Given the description of an element on the screen output the (x, y) to click on. 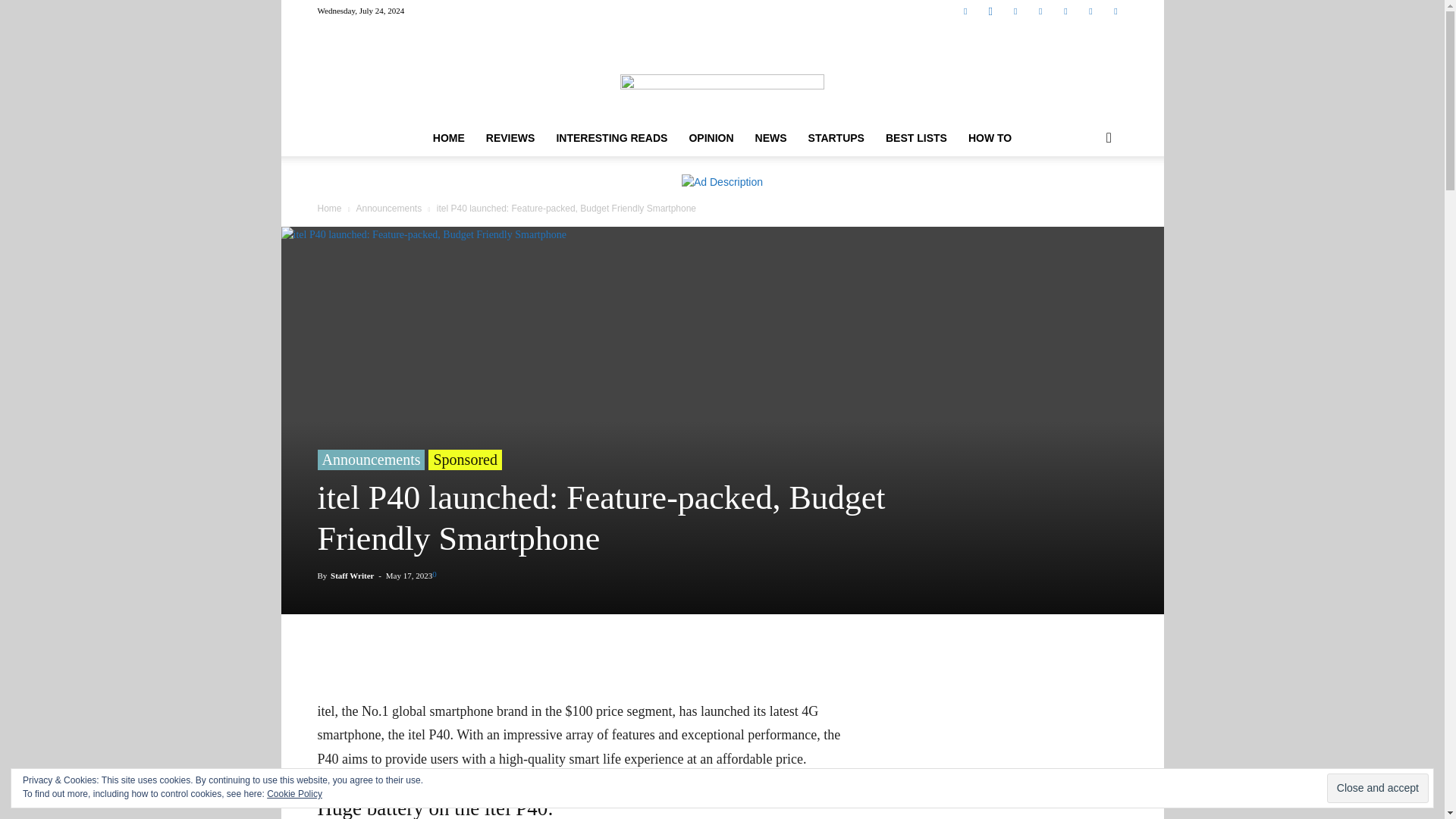
Close and accept (1377, 788)
INTERESTING READS (611, 137)
Linkedin (1015, 10)
Telegram (1040, 10)
OPINION (711, 137)
REVIEWS (511, 137)
STARTUPS (836, 137)
TikTok (1065, 10)
BEST LISTS (916, 137)
NEWS (770, 137)
HOW TO (990, 137)
Facebook (964, 10)
HOME (449, 137)
Instagram (989, 10)
Techish Kenya (722, 70)
